Given the description of an element on the screen output the (x, y) to click on. 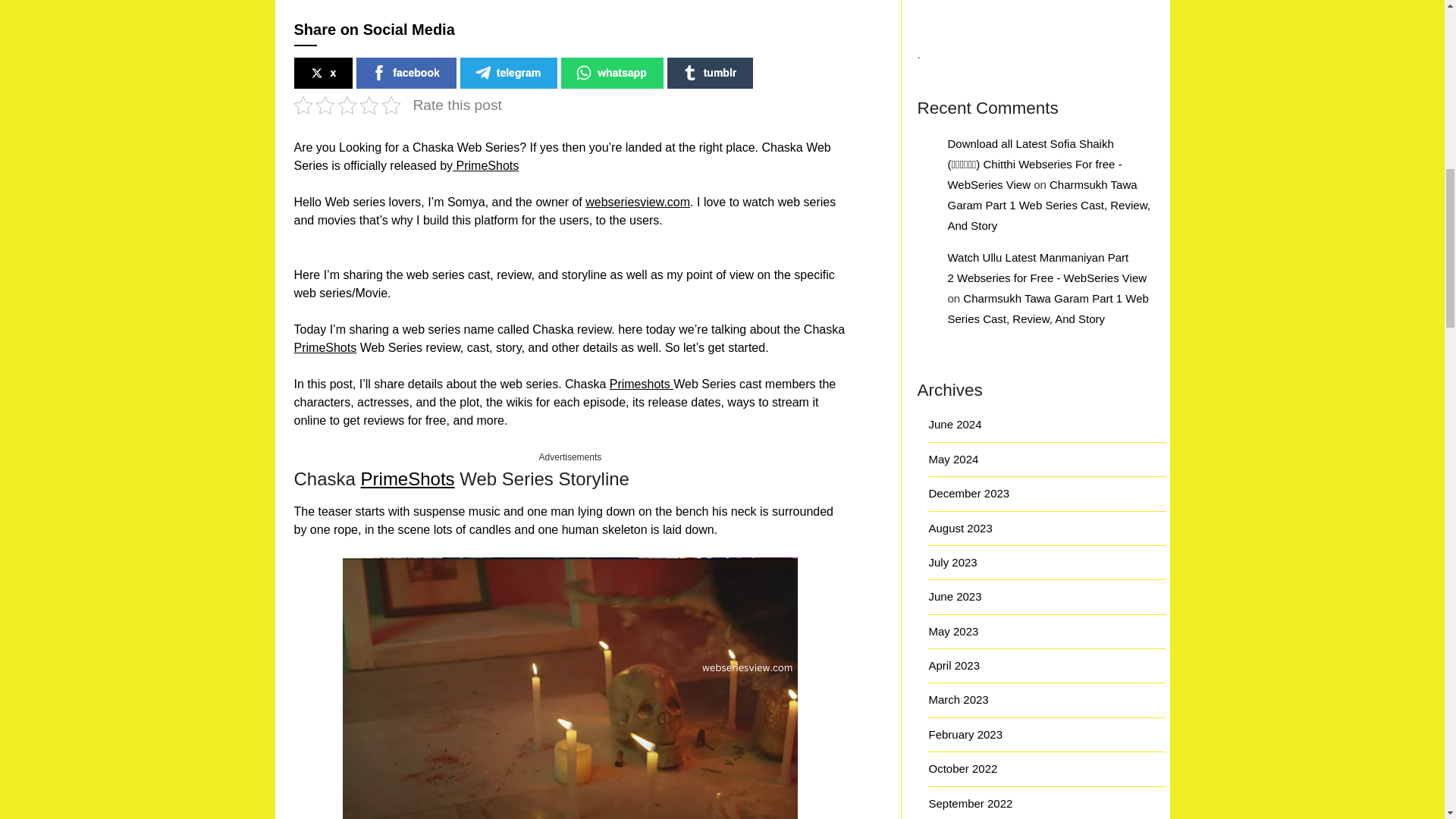
telegram (508, 72)
whatsapp (611, 72)
x (323, 72)
tumblr (710, 72)
webseriesview.com (637, 201)
PrimeShots (407, 478)
PrimeShots (485, 164)
PrimeShots (325, 347)
facebook (405, 72)
Primeshots (641, 383)
